Given the description of an element on the screen output the (x, y) to click on. 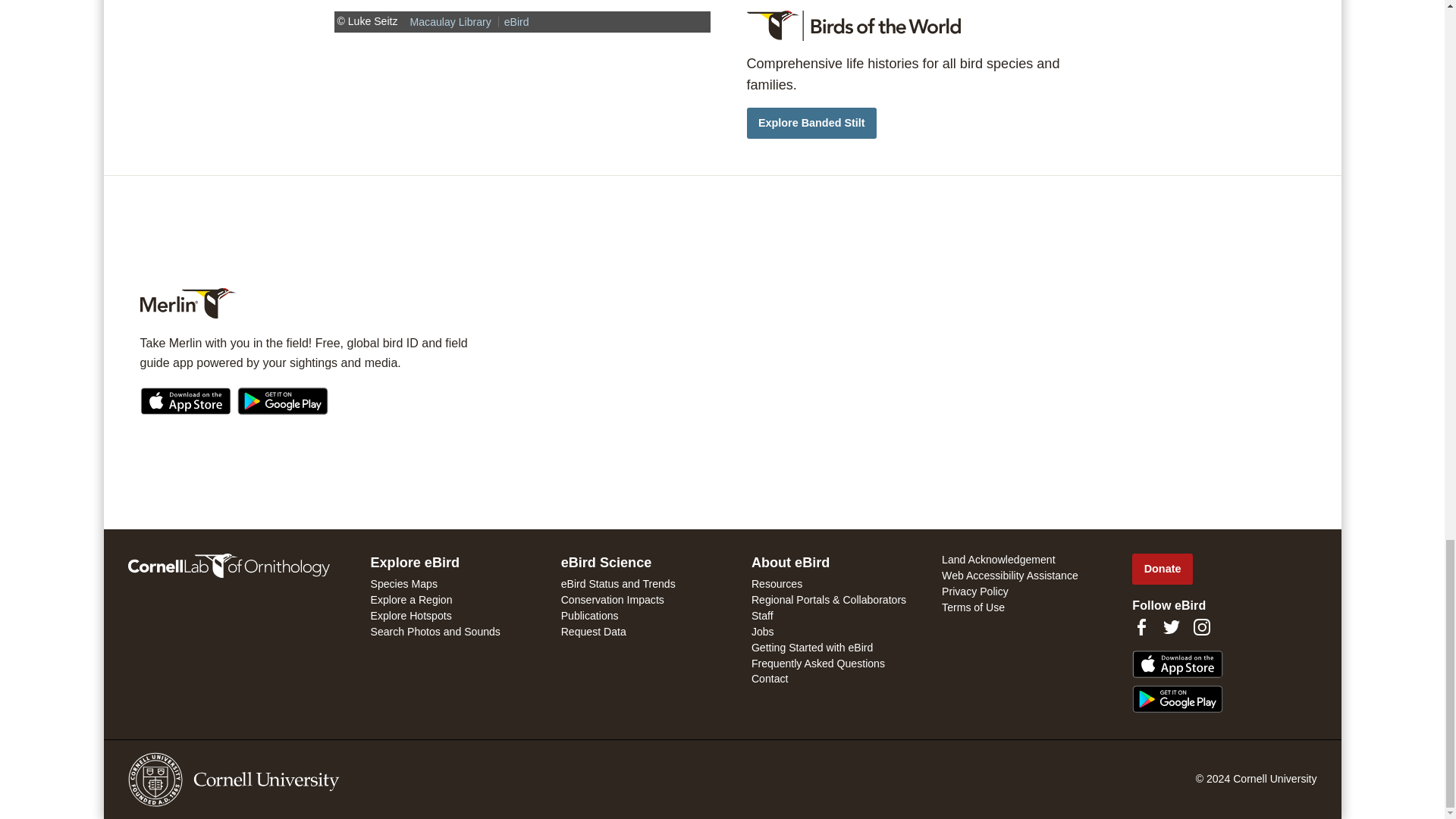
Find us on Facebook (1141, 627)
Follow us on Twitter (1170, 627)
Follow us on Instagram (1201, 627)
